Given the description of an element on the screen output the (x, y) to click on. 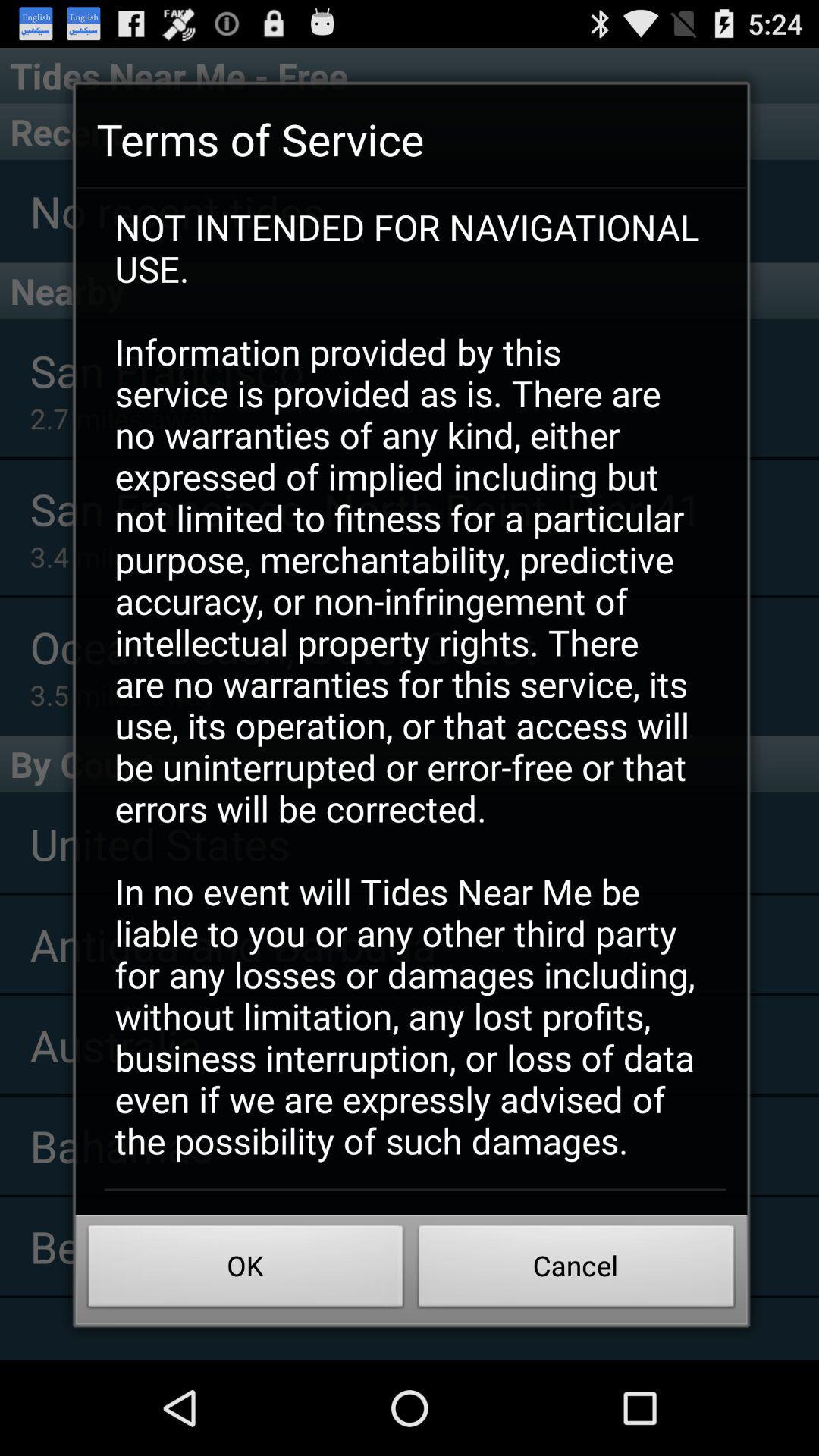
press the ok button (245, 1270)
